Given the description of an element on the screen output the (x, y) to click on. 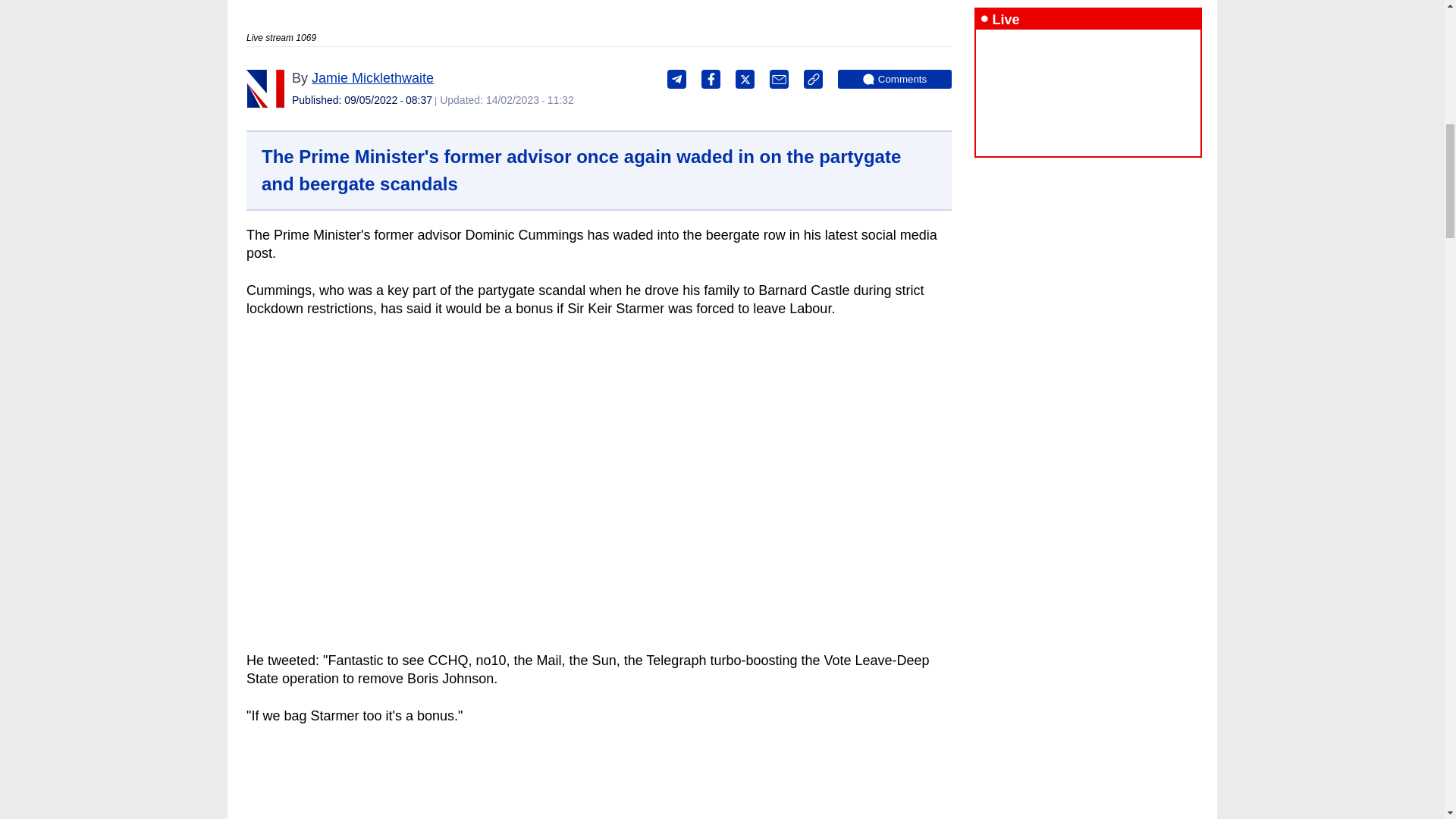
Jamie  Micklethwaite (372, 77)
Copy this link to clipboard (812, 78)
Jamie  Micklethwaite (264, 88)
